Given the description of an element on the screen output the (x, y) to click on. 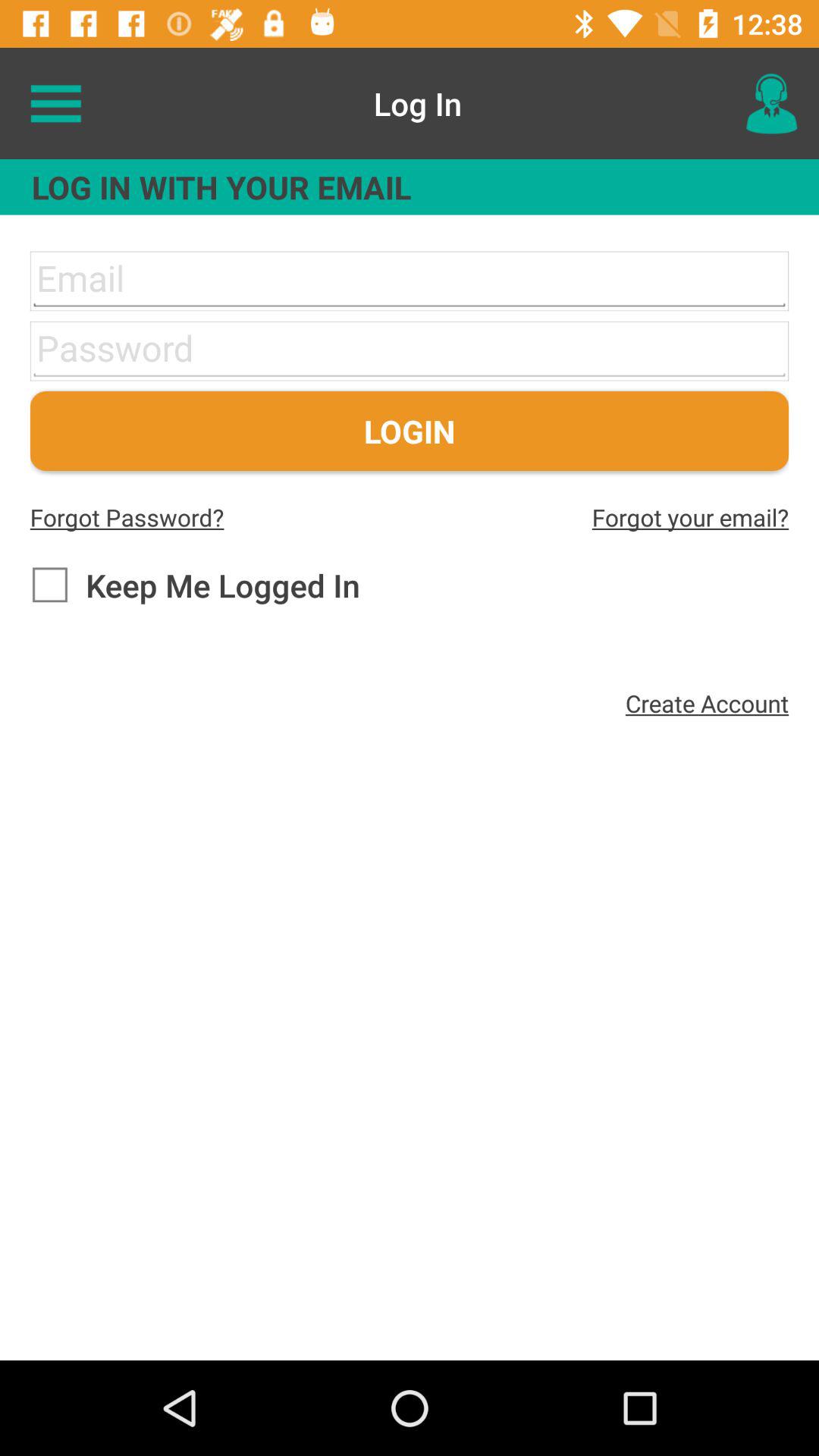
email textbox (409, 281)
